Given the description of an element on the screen output the (x, y) to click on. 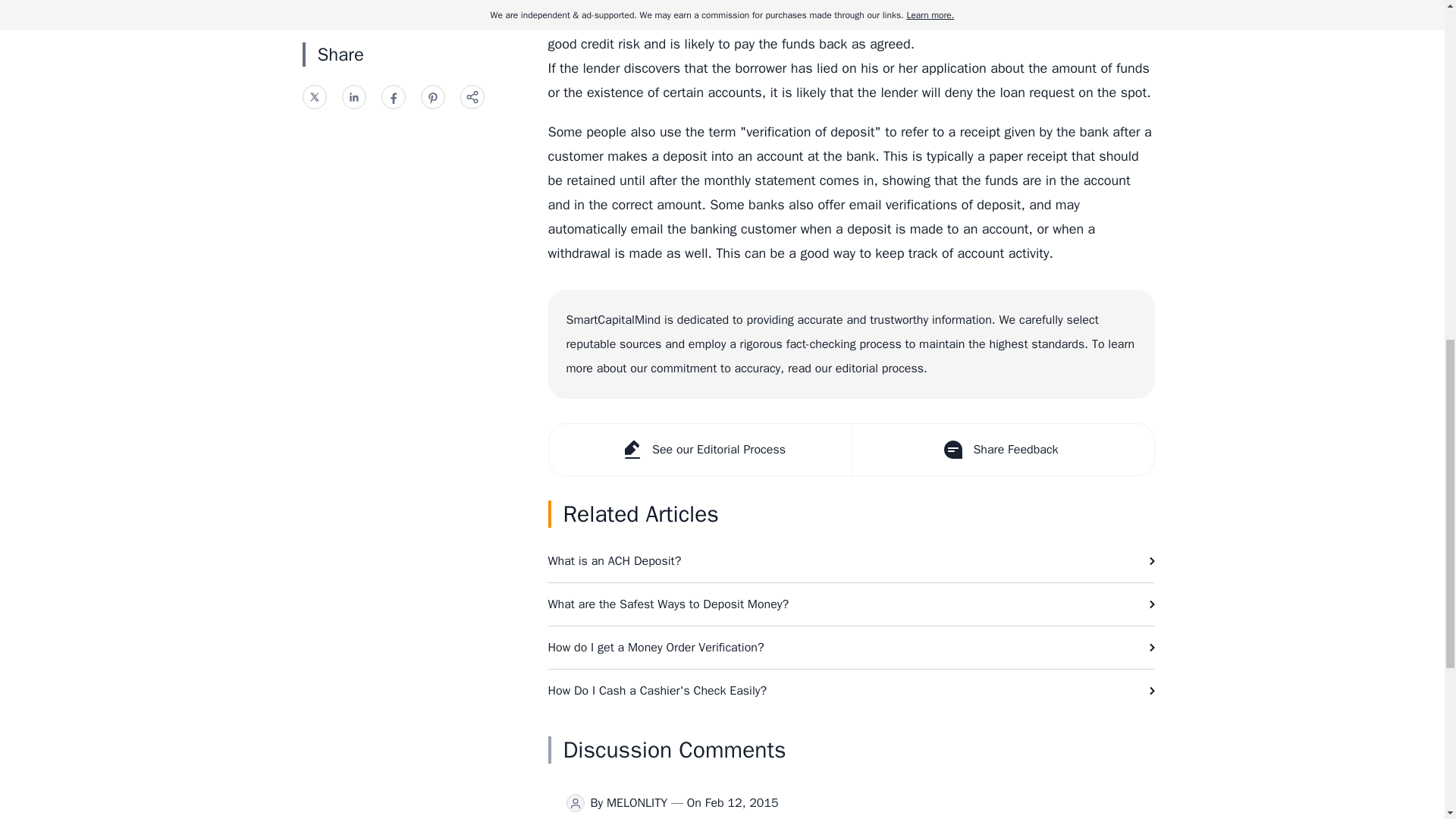
How do I get a Money Order Verification? (850, 647)
What are the Safest Ways to Deposit Money? (850, 604)
How Do I Cash a Cashier's Check Easily? (850, 690)
Share Feedback (1001, 449)
What is an ACH Deposit? (850, 560)
See our Editorial Process (699, 449)
